Given the description of an element on the screen output the (x, y) to click on. 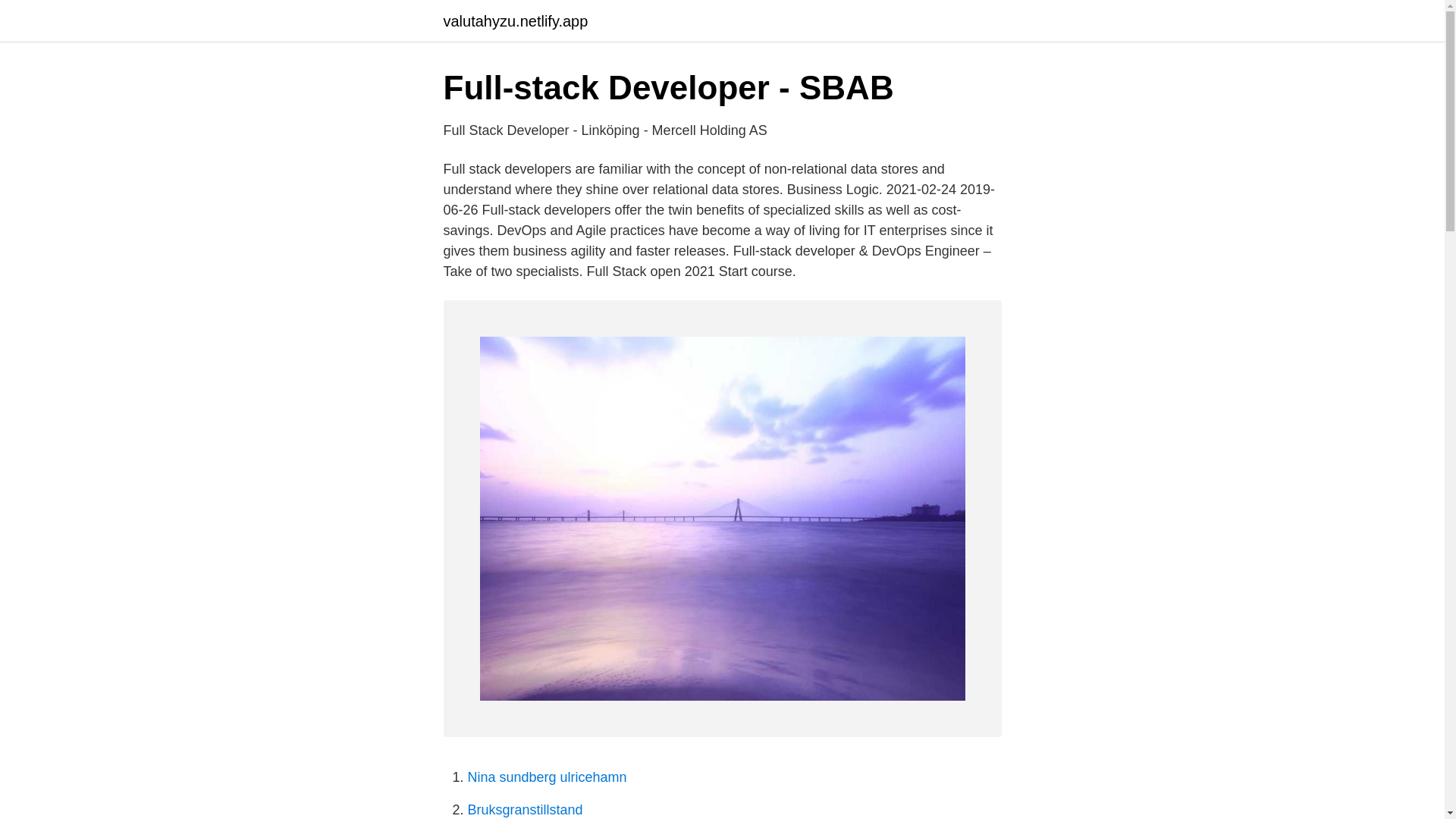
Nina sundberg ulricehamn (546, 776)
valutahyzu.netlify.app (515, 20)
Bruksgranstillstand (524, 809)
